Given the description of an element on the screen output the (x, y) to click on. 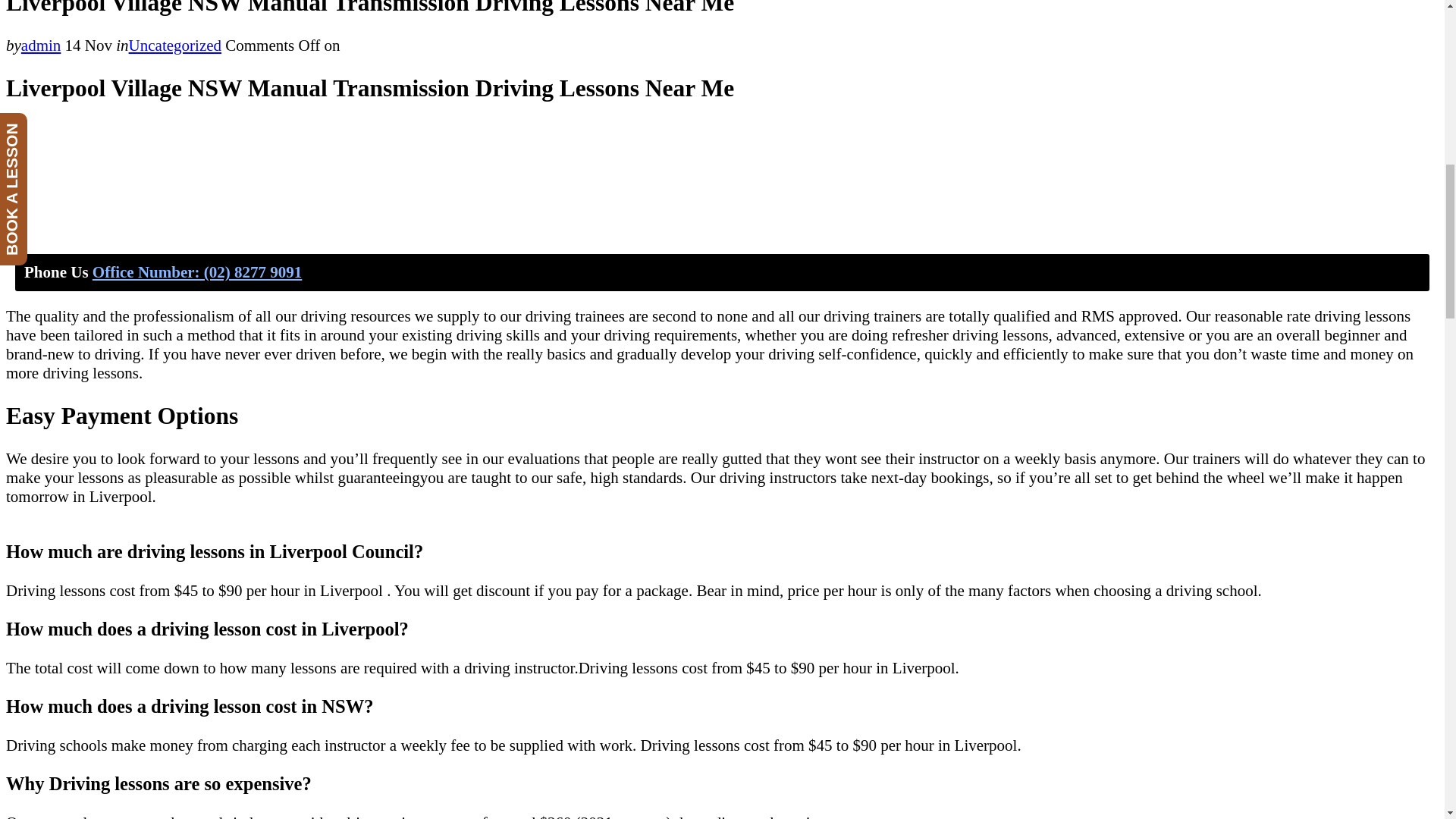
Posts by admin (41, 45)
admin (41, 45)
Uncategorized (175, 45)
